Given the description of an element on the screen output the (x, y) to click on. 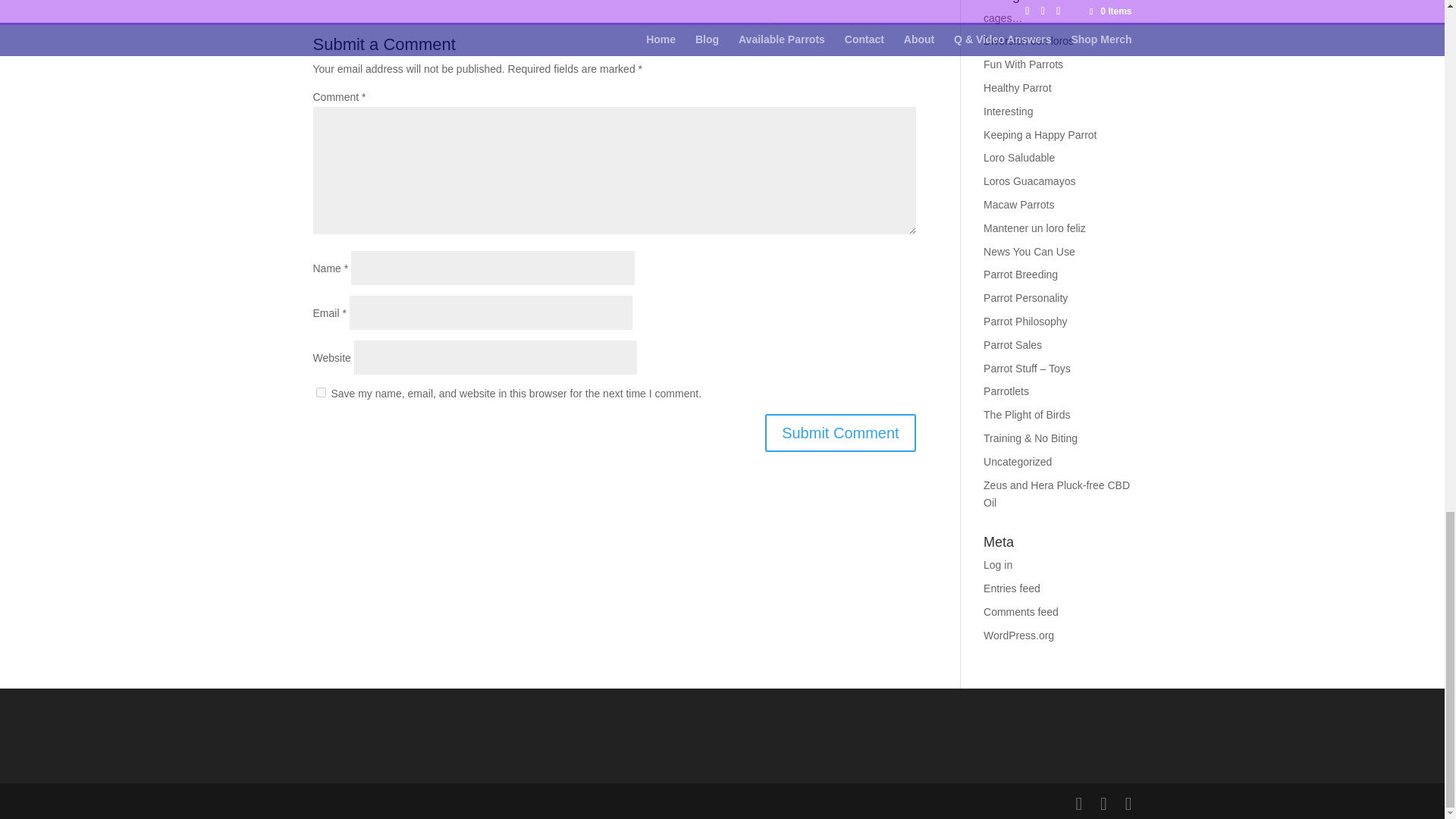
Submit Comment (840, 433)
Submit Comment (840, 433)
yes (319, 392)
